Given the description of an element on the screen output the (x, y) to click on. 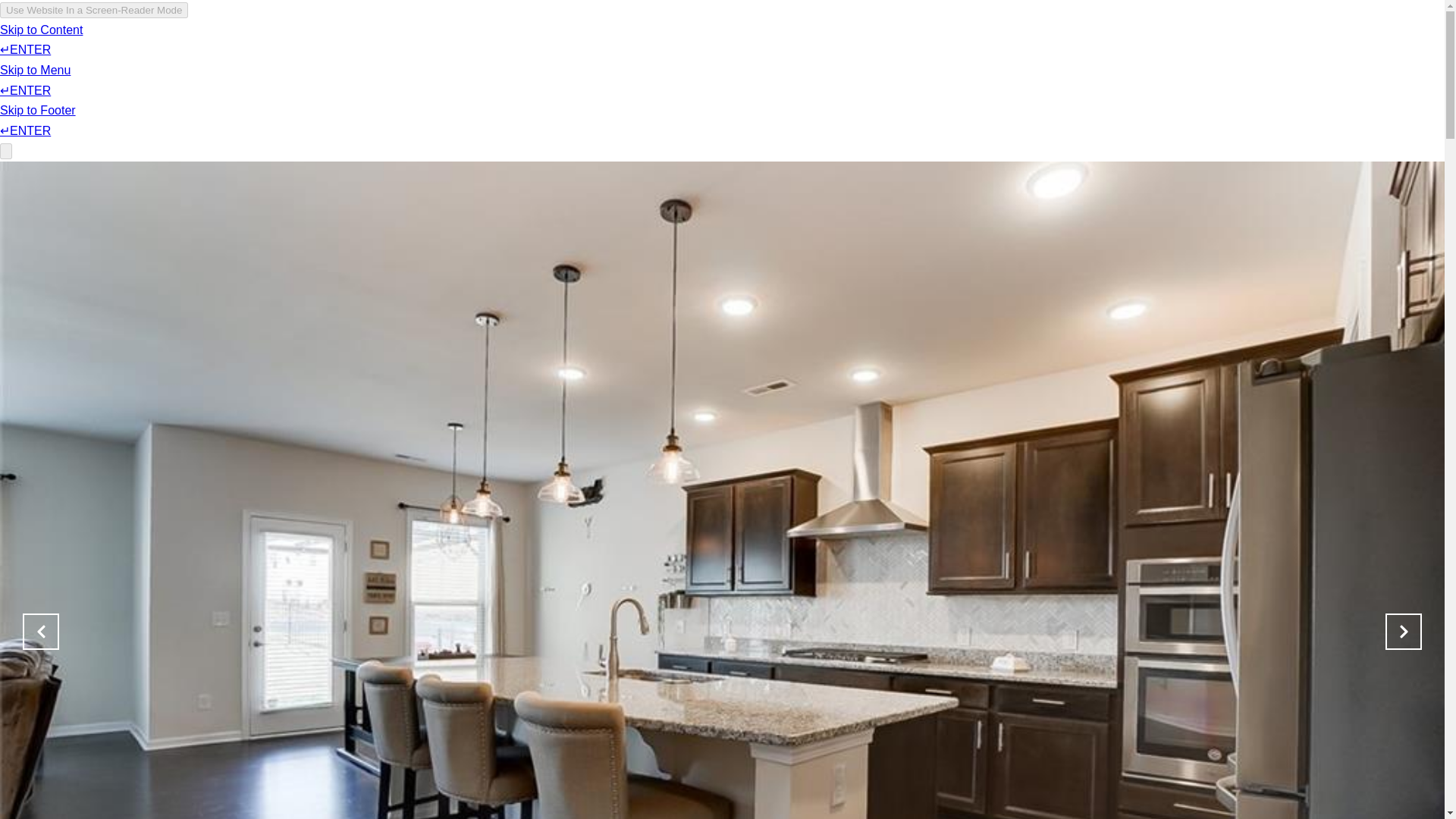
WILMINGTON AND OUTER BANKS REAL ESTATE (734, 56)
CHARLOTTE REAL ESTATE (416, 56)
CHARLESTON REAL ESTATE (552, 56)
COLUMBIA REAL ESTATE (1047, 56)
CONTACT US (1157, 55)
HILTON HEAD REAL ESTATE (916, 56)
